Given the description of an element on the screen output the (x, y) to click on. 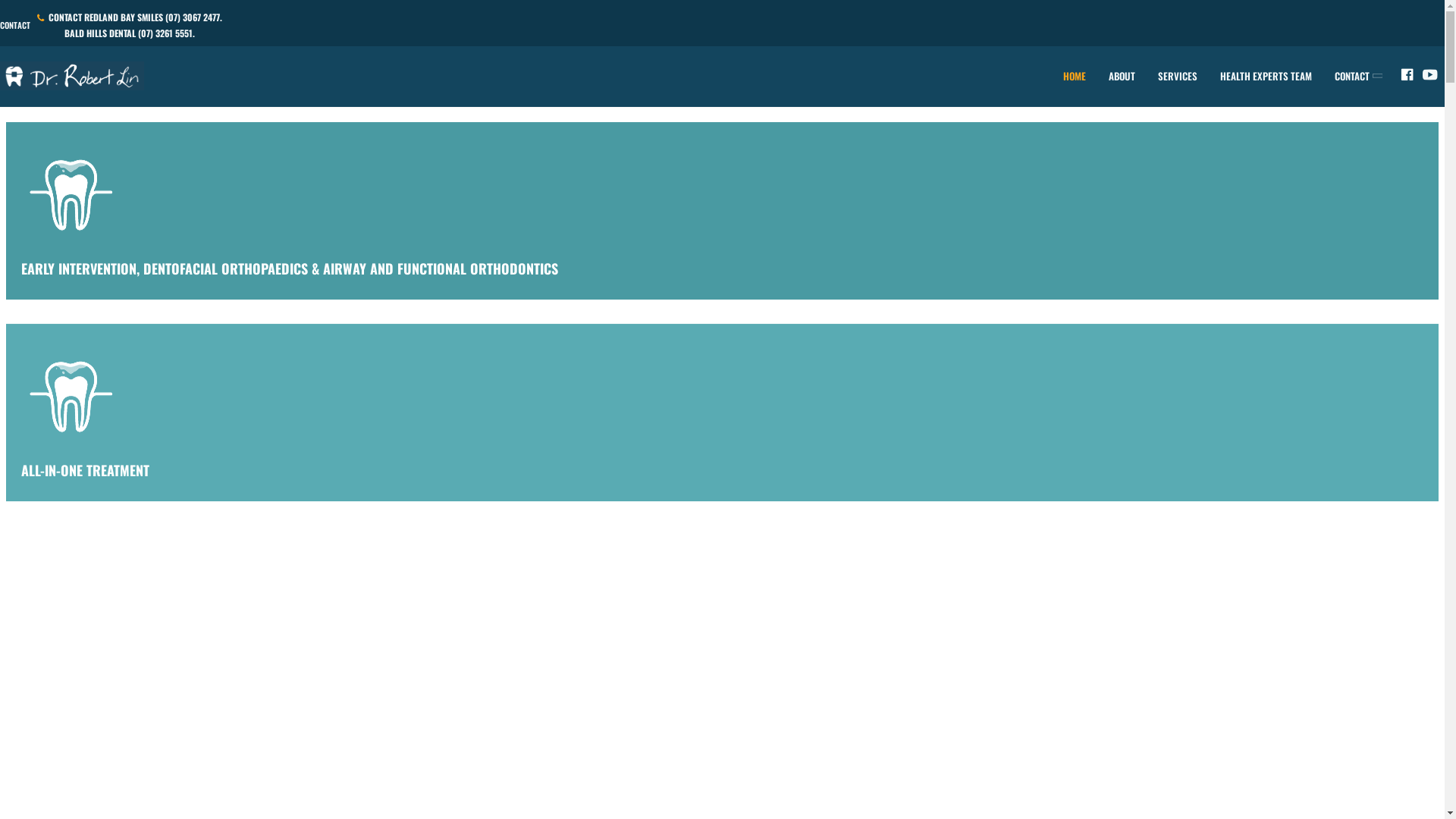
CONTACT Element type: text (15, 25)
CONTACT Element type: text (1355, 75)
HEALTH EXPERTS TEAM Element type: text (1265, 75)
HOME Element type: text (1074, 75)
Facebook Element type: hover (1407, 76)
ABOUT Element type: text (1121, 75)
SERVICES Element type: text (1177, 75)
YouTube Element type: hover (1429, 76)
